Given the description of an element on the screen output the (x, y) to click on. 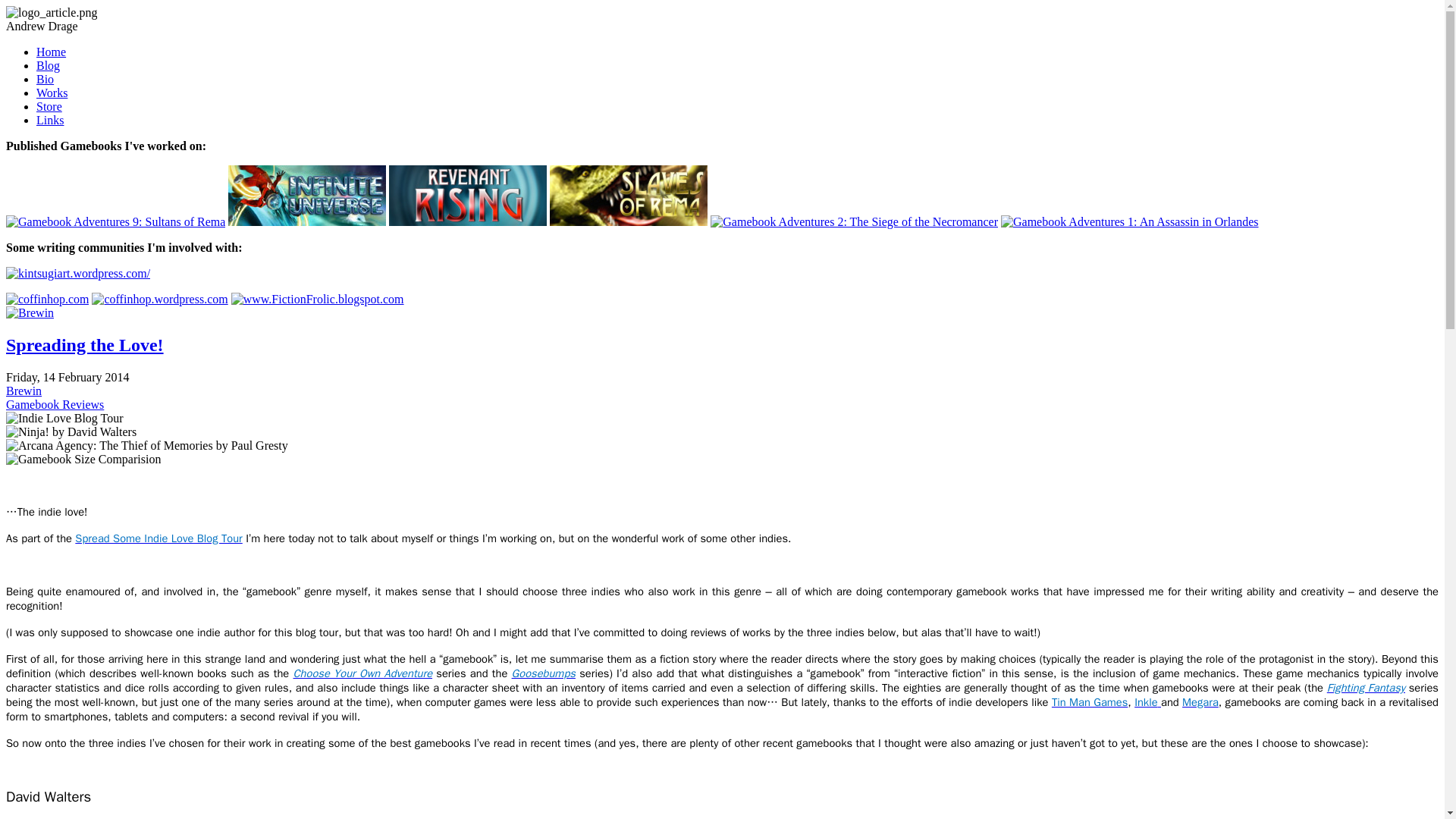
Links (50, 119)
Blog (47, 65)
Inkle (1147, 702)
Megara (1200, 702)
Tin Man Games (1088, 702)
Spread Some Indie Love Blog Tour (158, 538)
Spreading the Love! (84, 344)
Store (49, 106)
Home (50, 51)
Brewin (23, 390)
Gamebook Reviews (54, 404)
Fighting Fantasy (1365, 687)
Works (51, 92)
Blog Hop : Spread Some Indie Love (158, 538)
Goosebumps (543, 673)
